Given the description of an element on the screen output the (x, y) to click on. 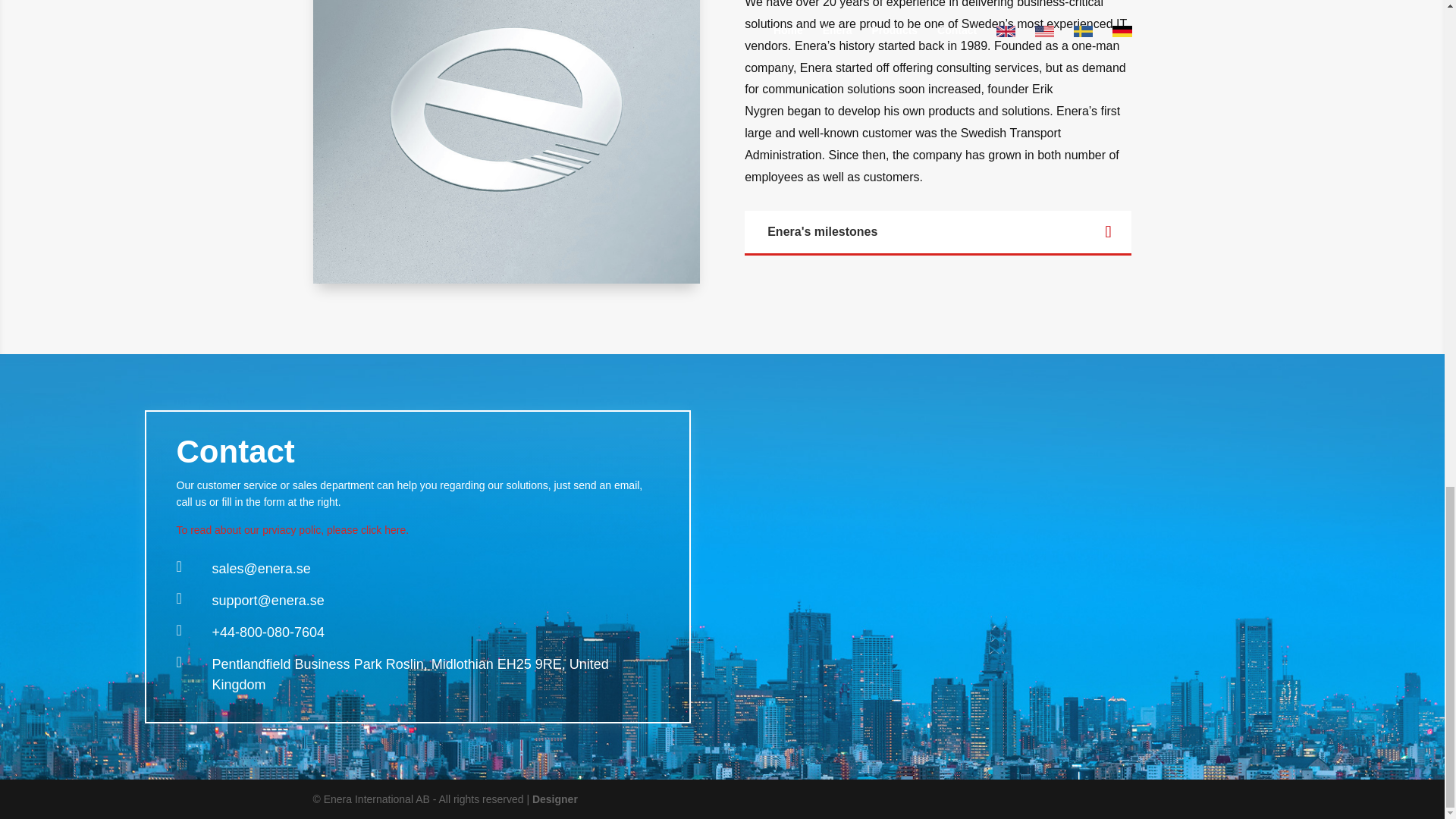
To read about our prviacy polic, please click here. (292, 530)
Designer (555, 799)
